Given the description of an element on the screen output the (x, y) to click on. 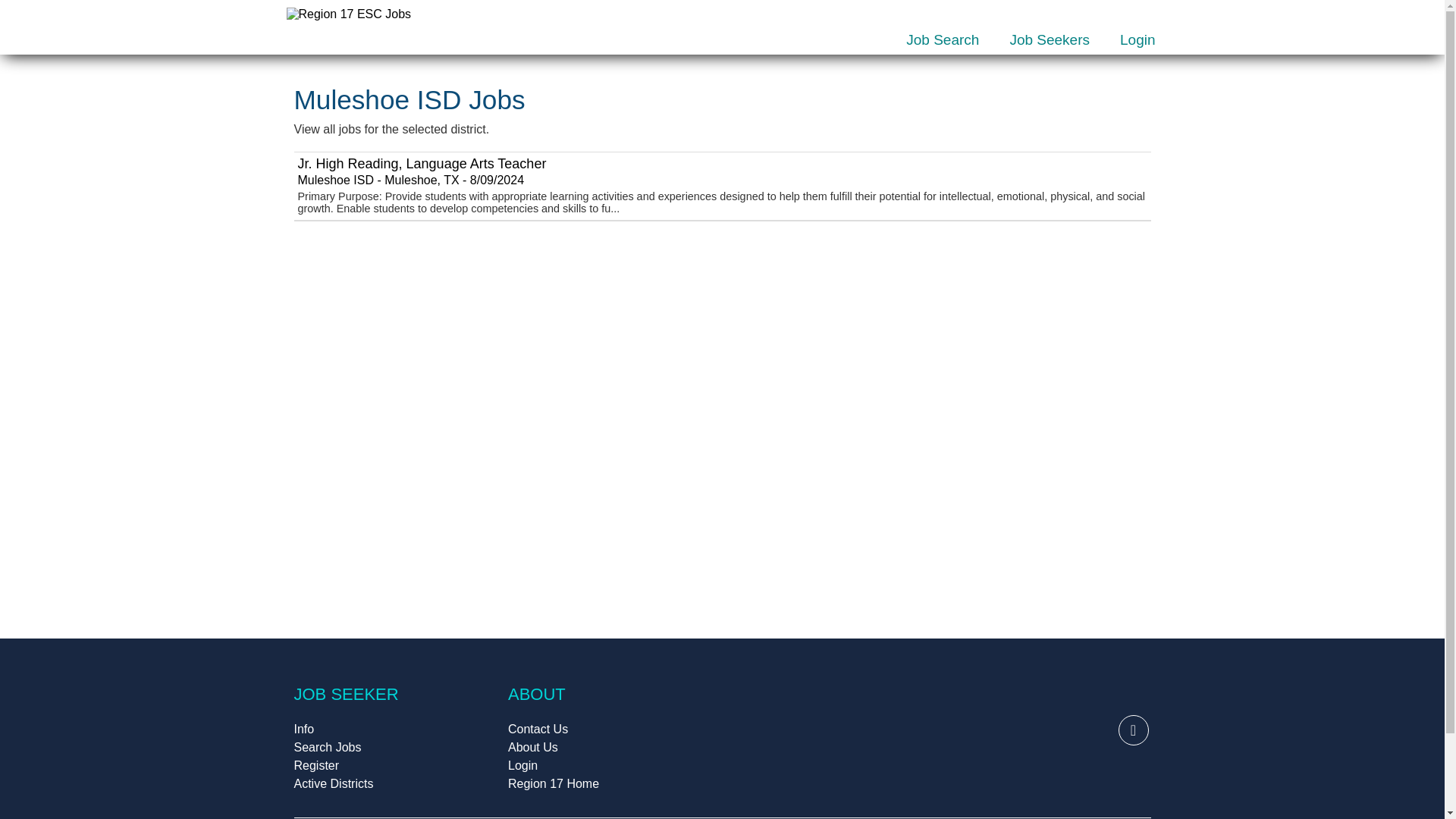
Active Districts (334, 783)
Contact Us (537, 728)
About Us (532, 747)
Register (316, 765)
Login (522, 765)
Region 17 Home (553, 783)
Follow Us On Facebook (1133, 729)
Login (1137, 39)
Search Jobs (327, 747)
Info (304, 728)
